Given the description of an element on the screen output the (x, y) to click on. 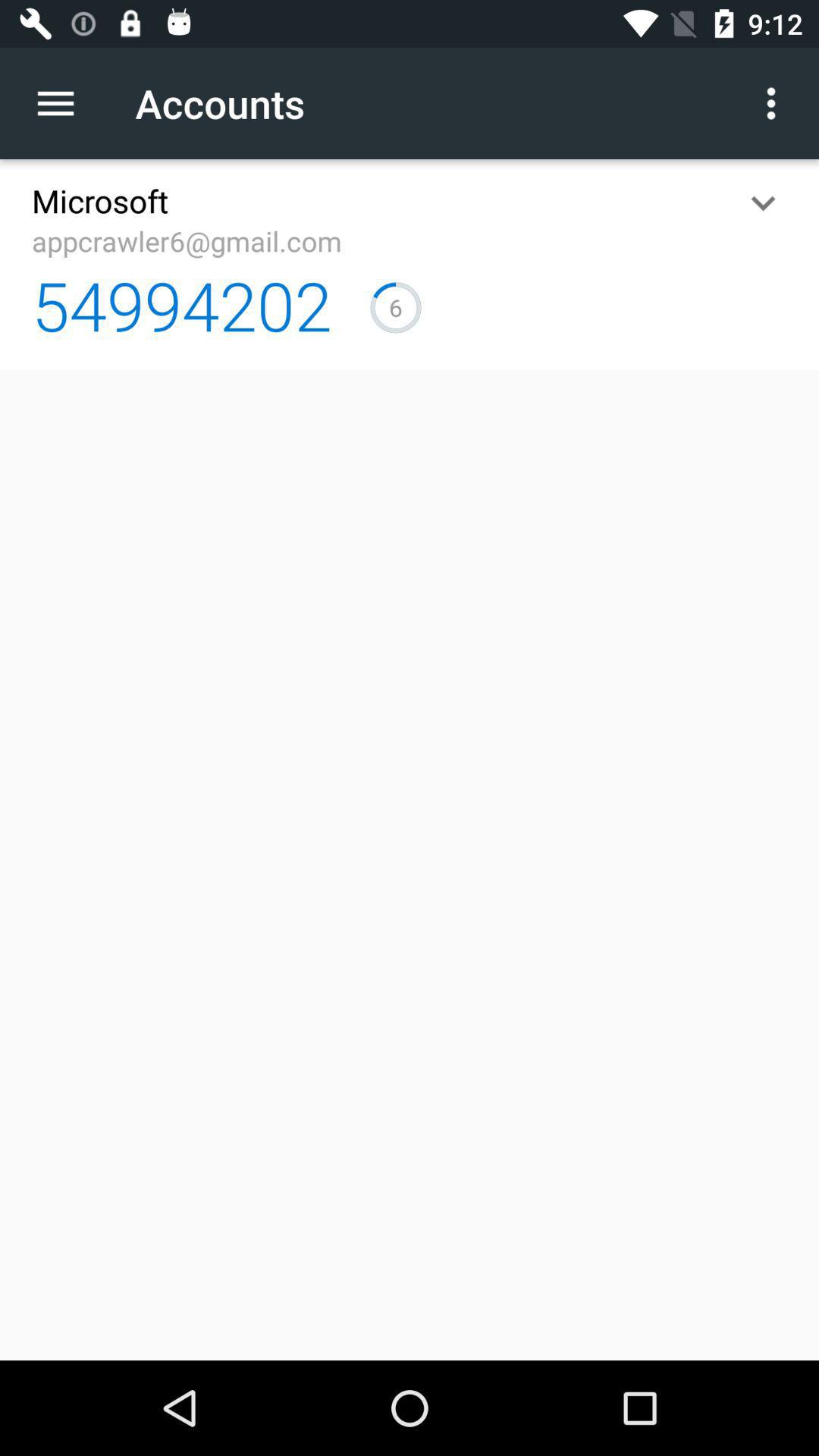
choose icon next to the appcrawler6@gmail.com icon (763, 202)
